Given the description of an element on the screen output the (x, y) to click on. 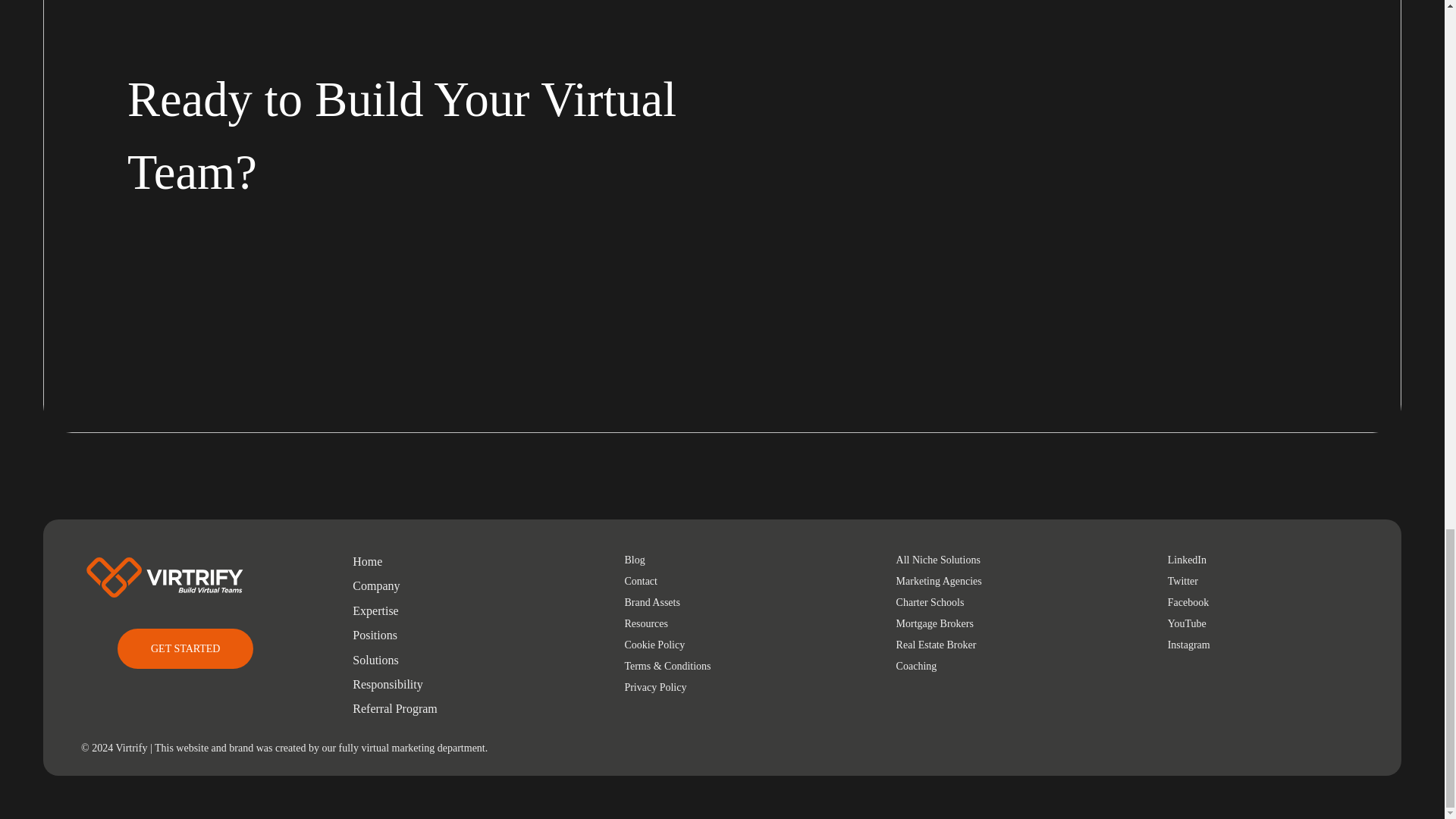
LinkedIn (1187, 559)
YouTube (1187, 623)
All Niche Solutions (937, 559)
Charter Schools (929, 602)
Coaching (916, 665)
Real Estate Broker (936, 644)
Instagram (1188, 644)
Twitter (1182, 581)
Marketing Agencies (938, 581)
Facebook (1187, 602)
Mortgage Brokers (935, 623)
